Given the description of an element on the screen output the (x, y) to click on. 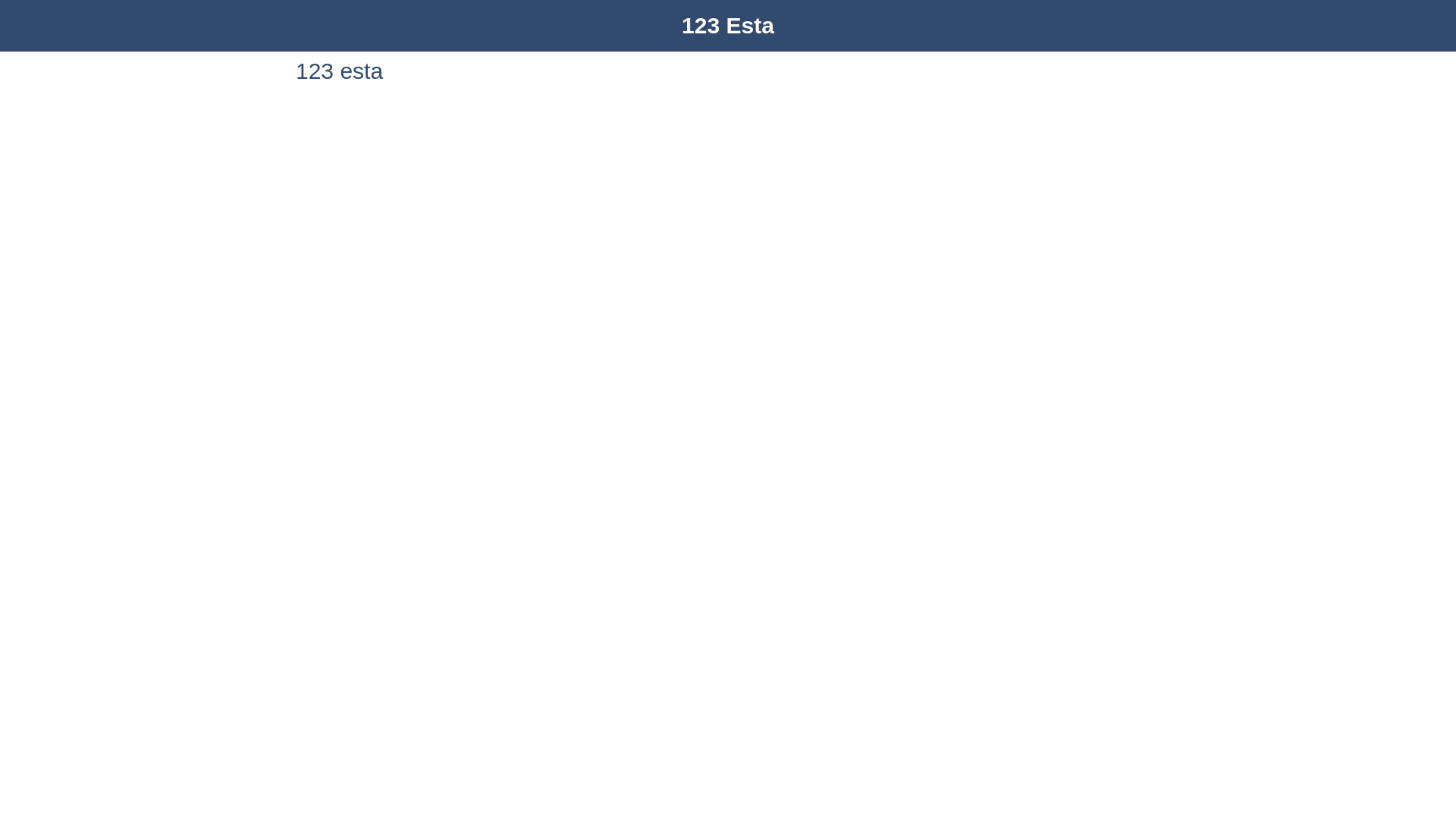
123 Esta Element type: text (727, 24)
